Given the description of an element on the screen output the (x, y) to click on. 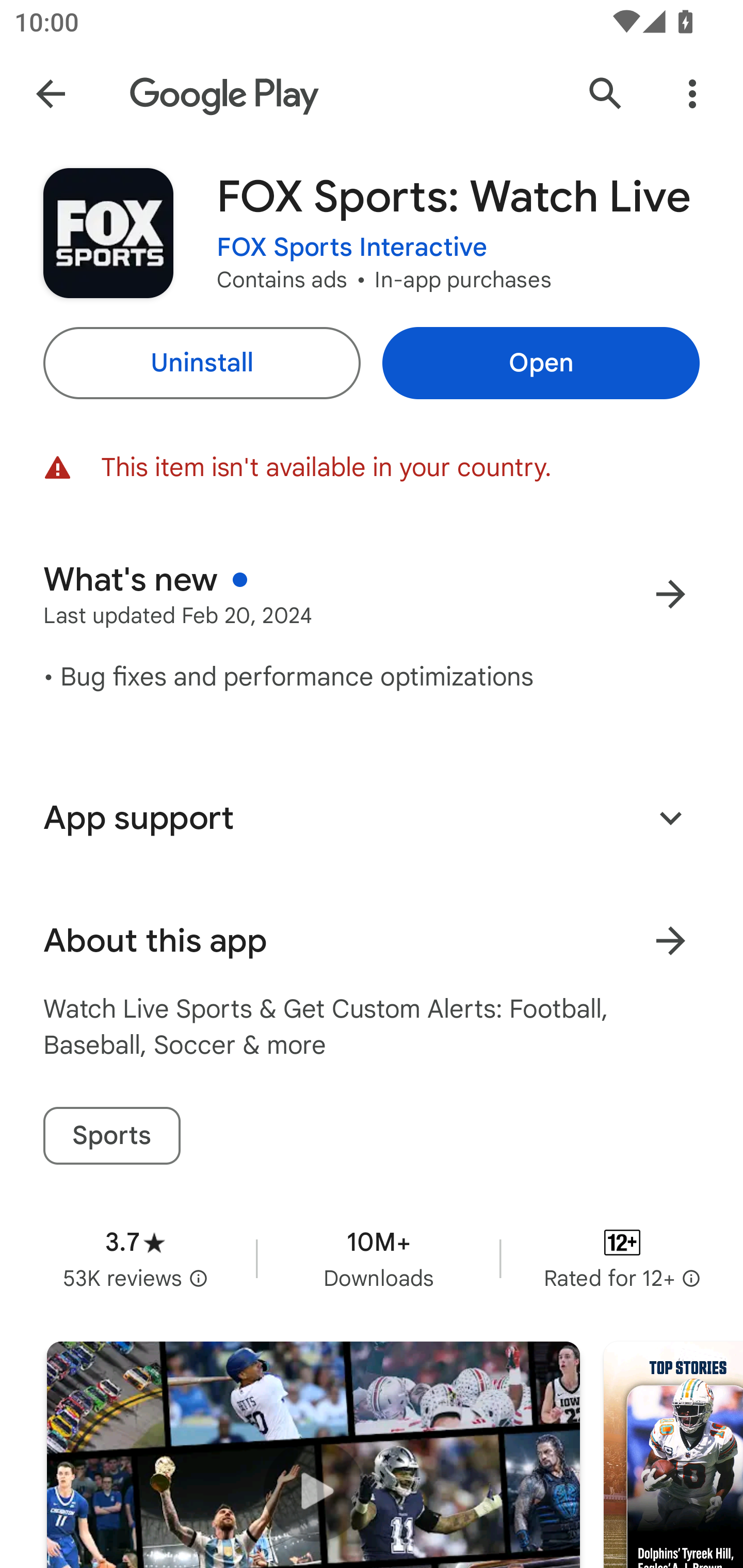
Navigate up (50, 93)
Search Google Play (605, 93)
More Options (692, 93)
FOX Sports Interactive (351, 247)
Uninstall (201, 362)
Open (540, 362)
More results for What's new (670, 594)
App support Expand (371, 817)
Expand (670, 817)
About this app Learn more About this app (371, 940)
Learn more About this app (670, 940)
Sports tag (111, 1135)
Average rating 3.7 stars in 53 thousand reviews (135, 1258)
Content rating Rated for 12+ (622, 1258)
Play trailer for "FOX Sports: Watch Live" (313, 1455)
